Given the description of an element on the screen output the (x, y) to click on. 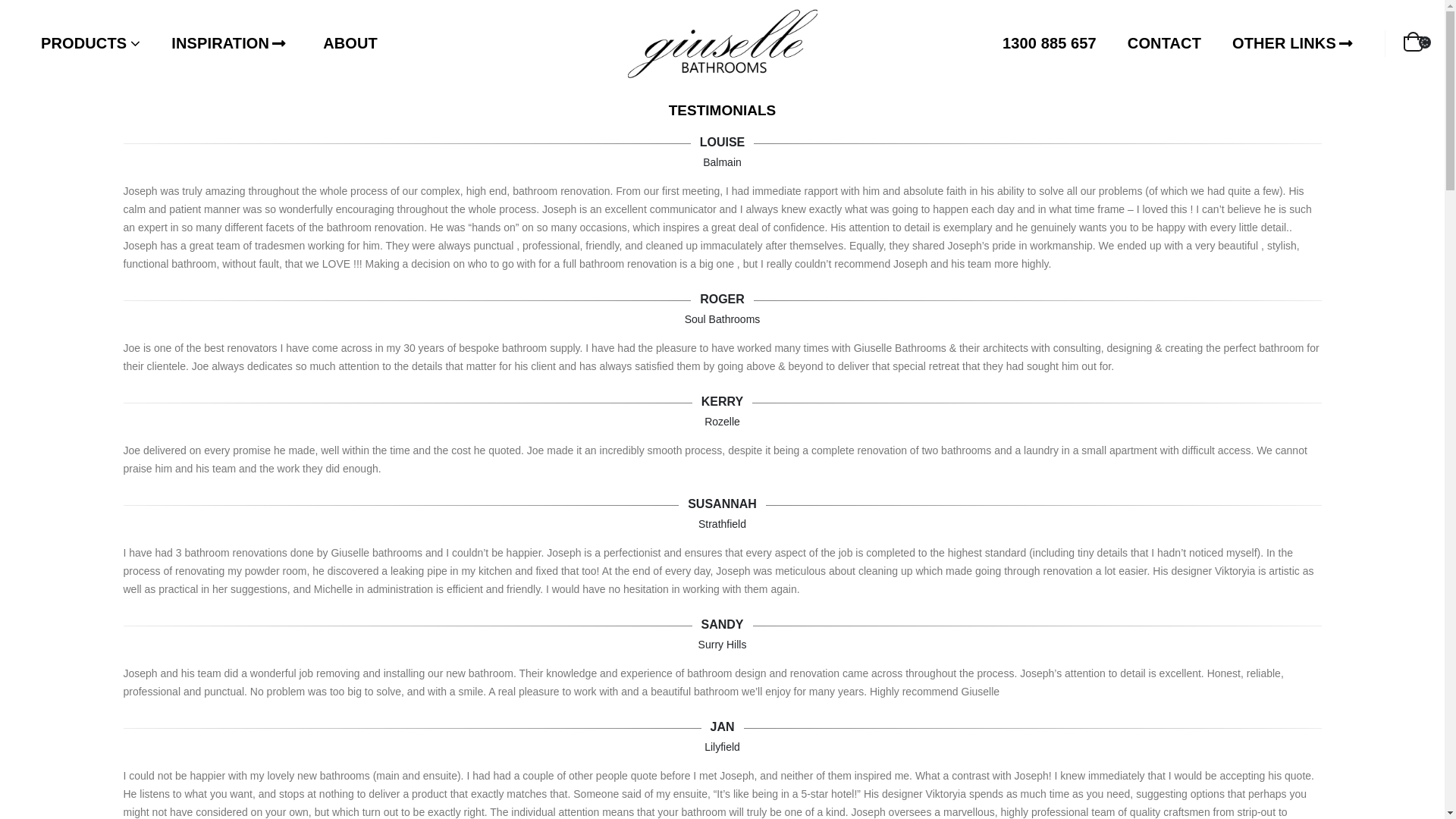
OTHER LINKS Element type: text (1292, 42)
ABOUT Element type: text (349, 42)
INSPIRATION Element type: text (228, 42)
PRODUCTS Element type: text (90, 42)
Giuselle Bathrooms - Quality is our passion Element type: hover (722, 43)
CONTACT Element type: text (1164, 42)
1300 885 657 Element type: text (1049, 42)
